Given the description of an element on the screen output the (x, y) to click on. 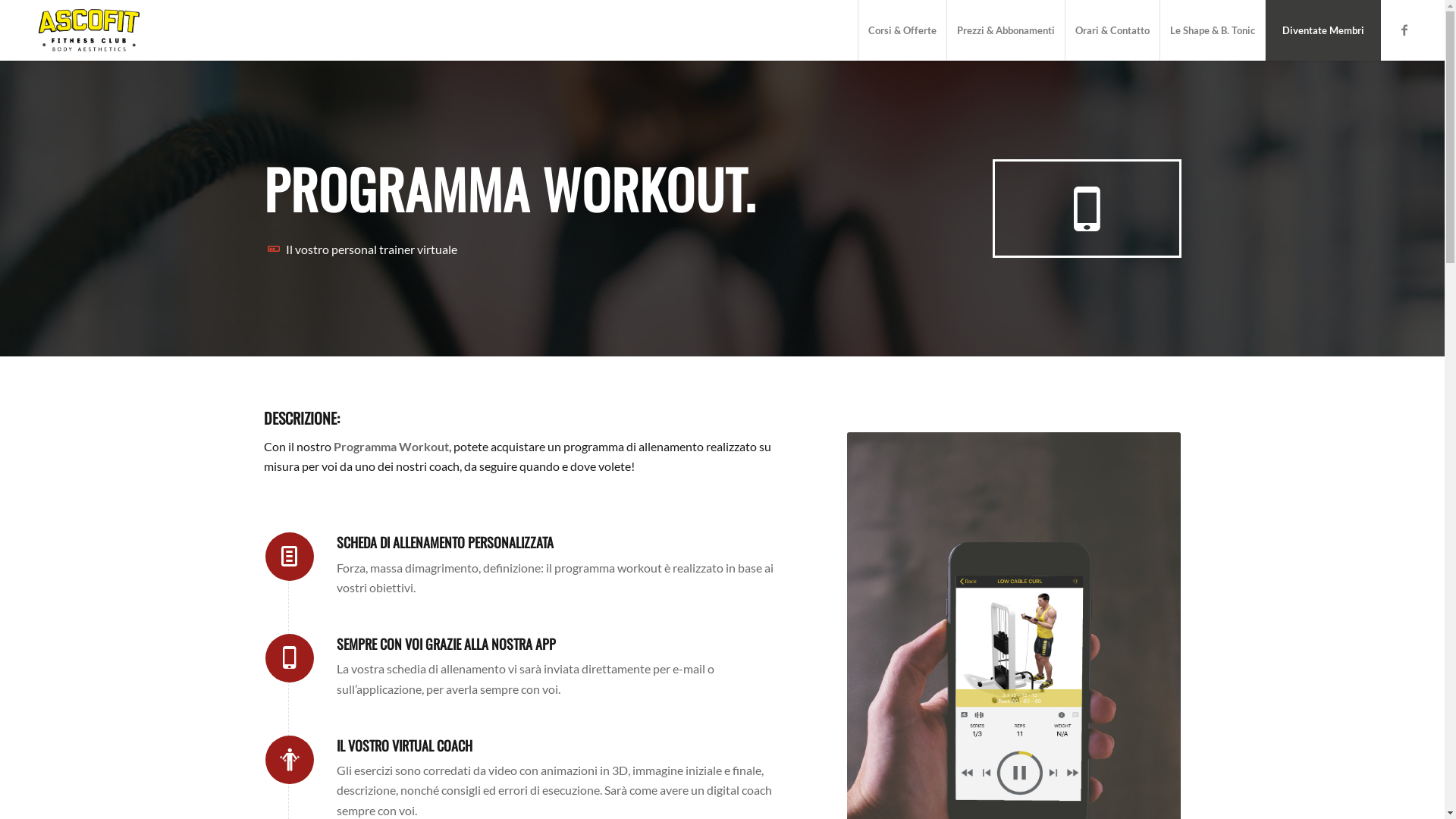
Corsi & Offerte Element type: text (901, 30)
Prezzi & Abbonamenti Element type: text (1005, 30)
Orari & Contatto Element type: text (1111, 30)
Facebook Element type: hover (1404, 29)
Le Shape & B. Tonic Element type: text (1211, 30)
Diventate Membri Element type: text (1322, 30)
